Given the description of an element on the screen output the (x, y) to click on. 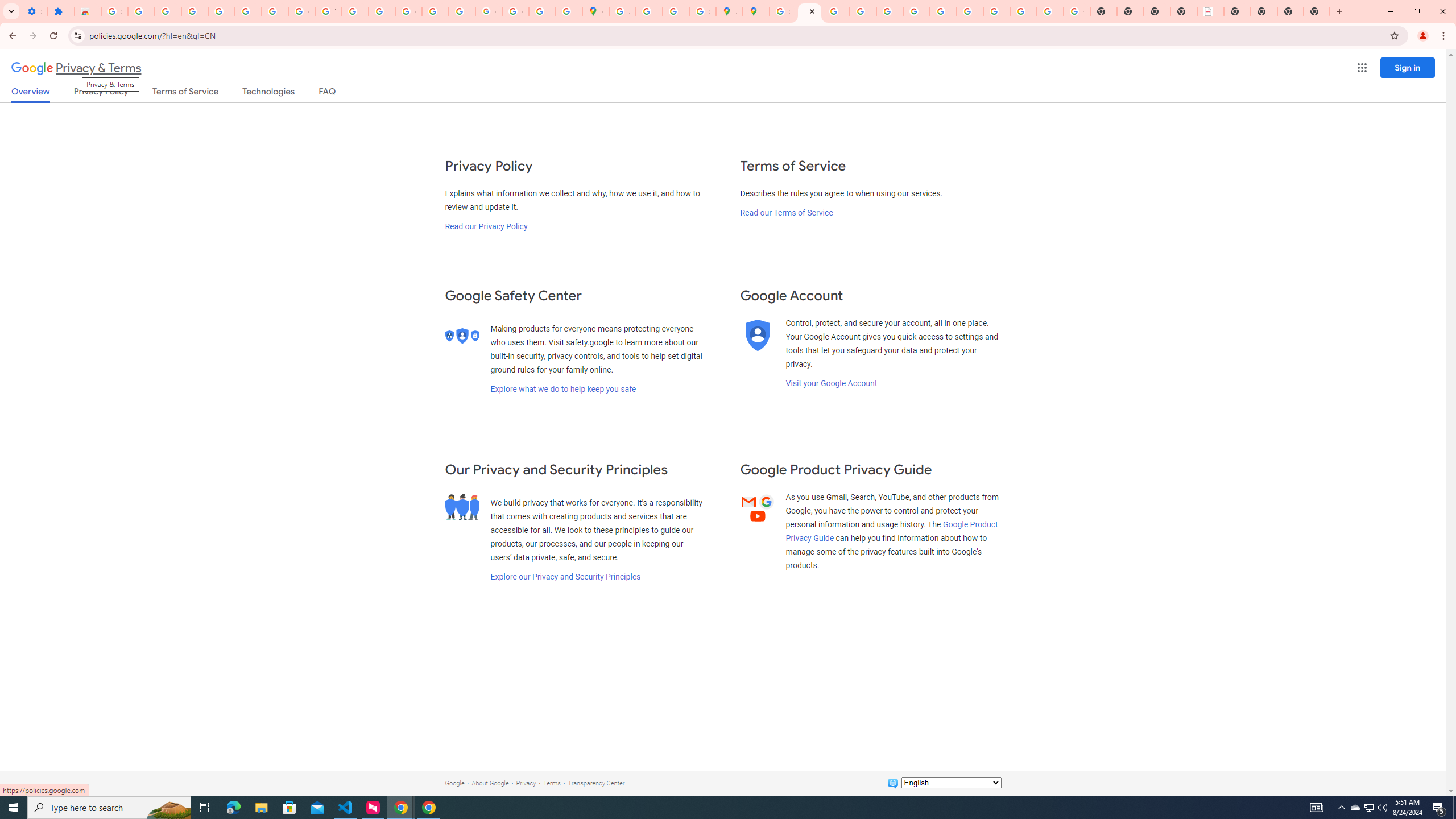
Reviews: Helix Fruit Jump Arcade Game (87, 11)
Overview (30, 94)
New Tab (1290, 11)
LAAD Defence & Security 2025 | BAE Systems (1210, 11)
